Given the description of an element on the screen output the (x, y) to click on. 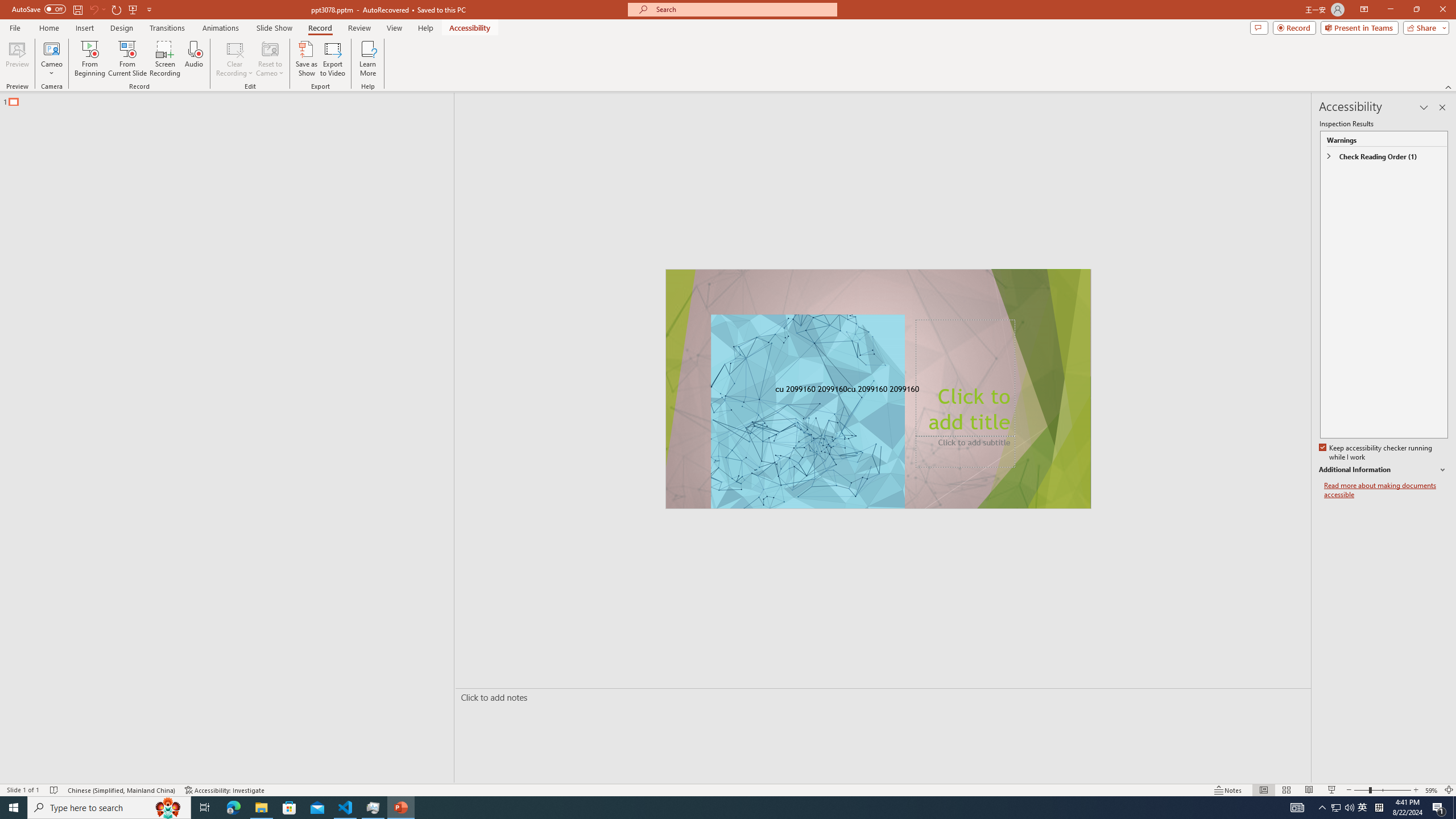
Notion (917, 800)
Symbol-llm-v2.pdf (1275, 102)
SJTUvpn (98, 254)
VMware Workstation Pro (32, 563)
Poe (98, 178)
test.py (163, 632)
UGround_paper.pdf (686, 26)
Something.md (1405, 557)
